Given the description of an element on the screen output the (x, y) to click on. 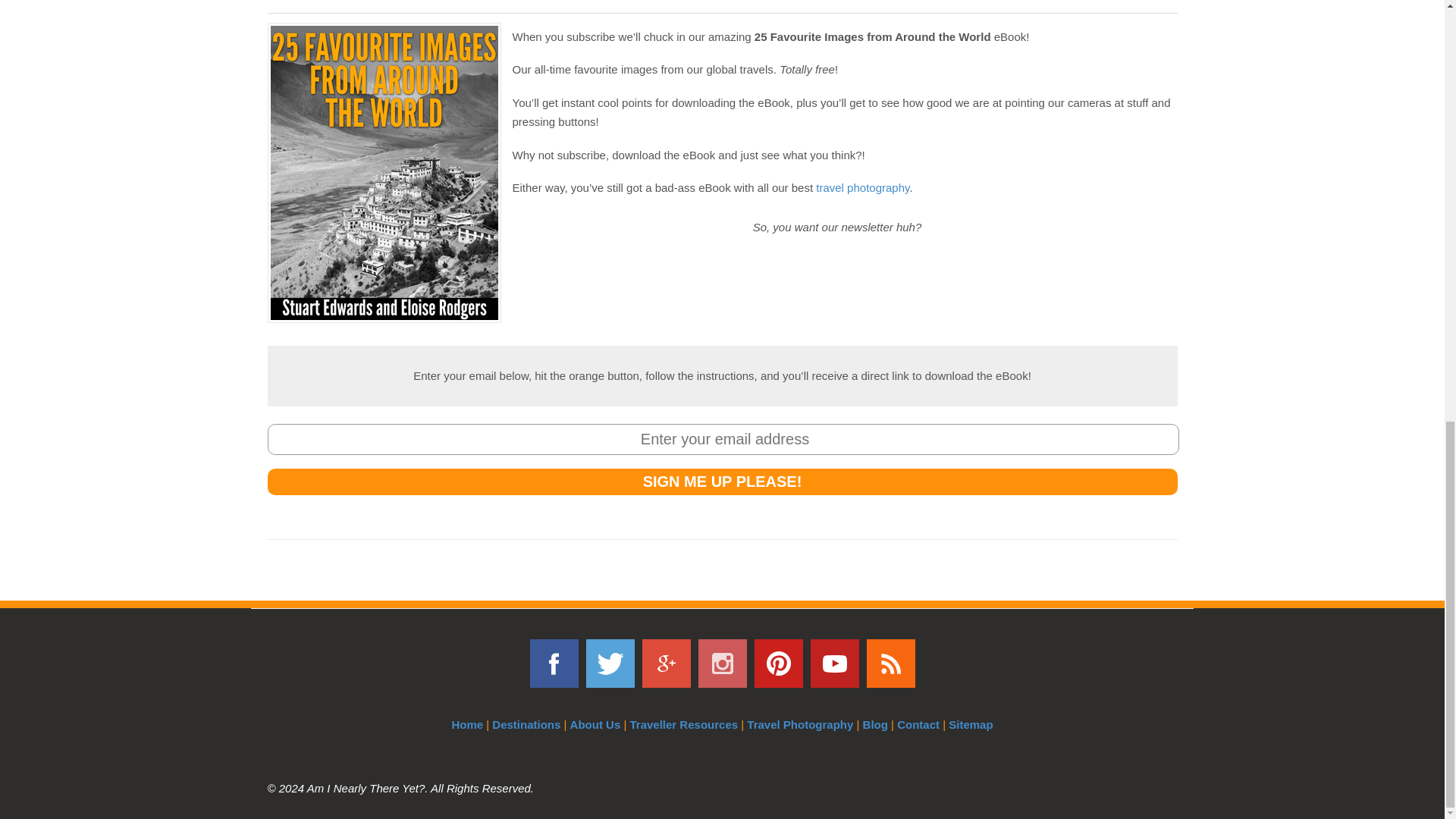
Contact (917, 724)
Sitemap (970, 724)
Blog (875, 724)
travel photography (861, 187)
SIGN ME UP PLEASE! (721, 481)
Destinations (526, 724)
Travel Photography (799, 724)
About Us (595, 724)
SIGN ME UP PLEASE! (721, 481)
Home (467, 724)
Traveller Resources (683, 724)
